Given the description of an element on the screen output the (x, y) to click on. 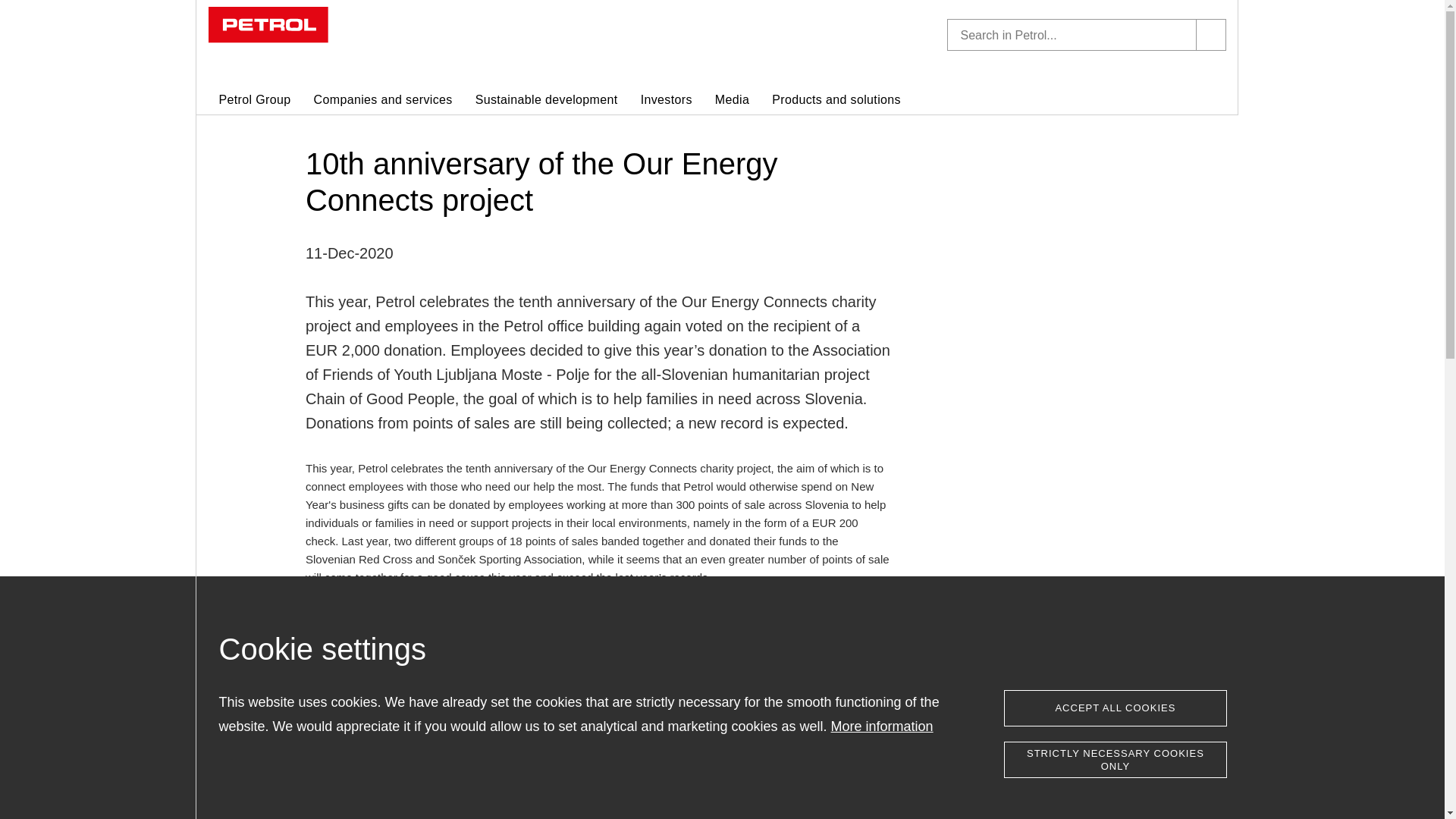
More information (882, 726)
Investors (666, 101)
Petrol Group (253, 101)
ACCEPT ALL COOKIES (1114, 708)
Accept all cookies (1114, 708)
Companies and services (383, 101)
STRICTLY NECESSARY COOKIES ONLY (1114, 760)
Media (731, 101)
STRICTLY NECESSARY COOKIES ONLY (1114, 760)
Sustainable development (546, 101)
